Given the description of an element on the screen output the (x, y) to click on. 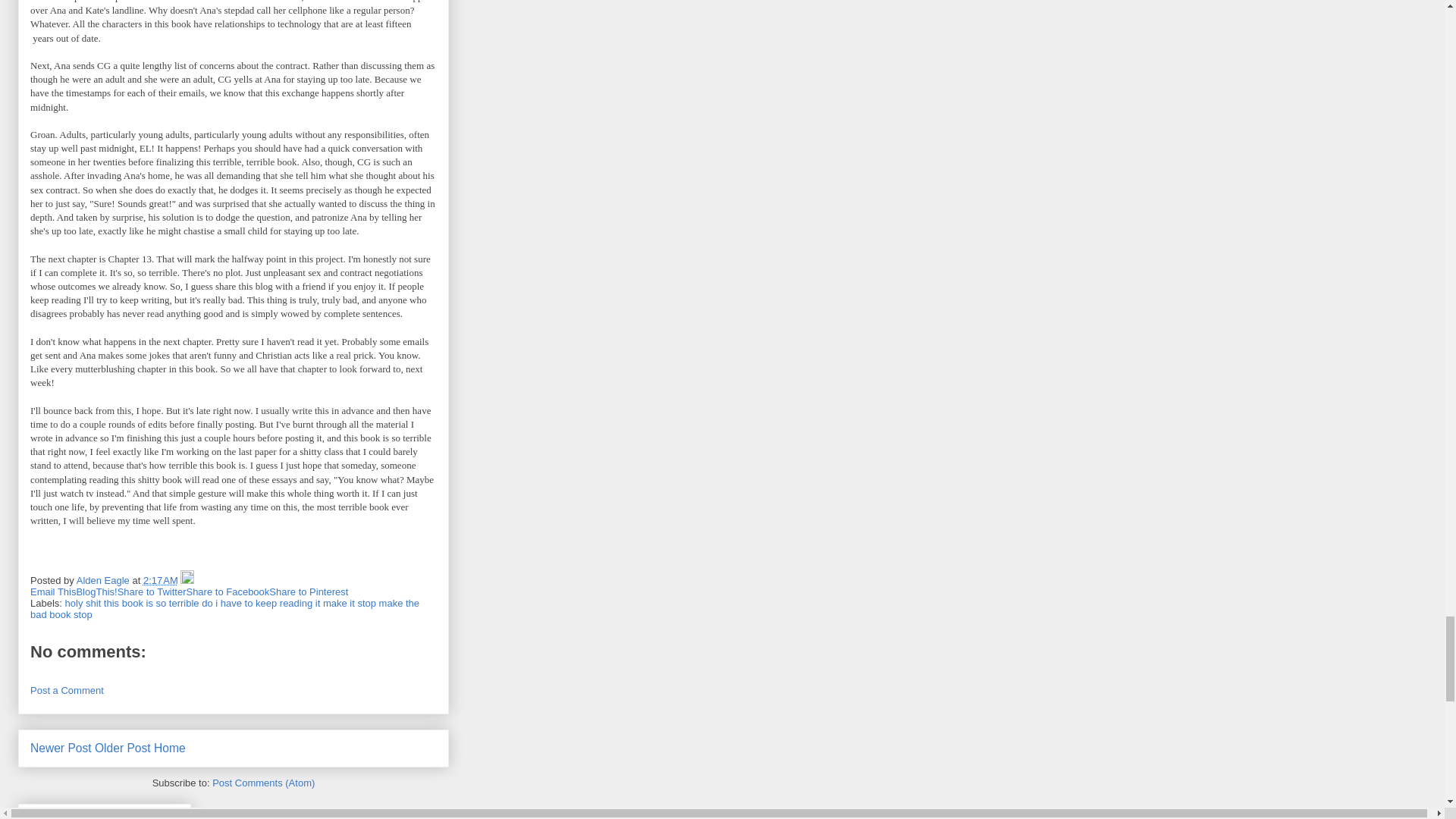
Share to Pinterest (308, 591)
author profile (104, 580)
Share to Pinterest (308, 591)
Edit Post (186, 580)
Older Post (122, 748)
Email This (52, 591)
Share to Facebook (227, 591)
Share to Facebook (227, 591)
Newer Post (60, 748)
